Given the description of an element on the screen output the (x, y) to click on. 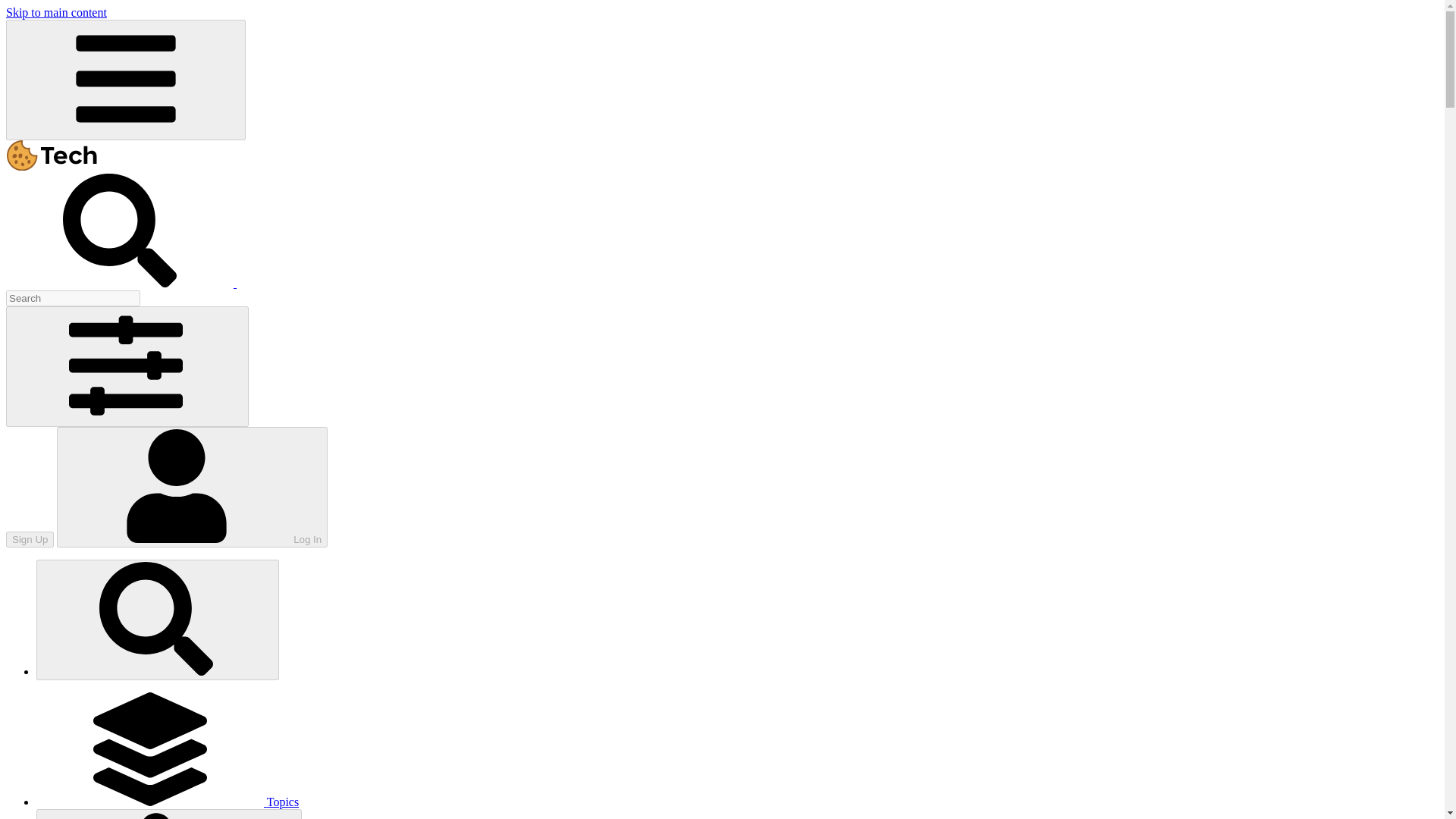
Open advanced search (126, 366)
Sign Up (29, 539)
Sidebar (125, 79)
All topics (167, 801)
More (168, 814)
Log In (191, 486)
Topics (167, 801)
Open advanced search (120, 282)
Search (157, 619)
Skip to main content (55, 11)
